Given the description of an element on the screen output the (x, y) to click on. 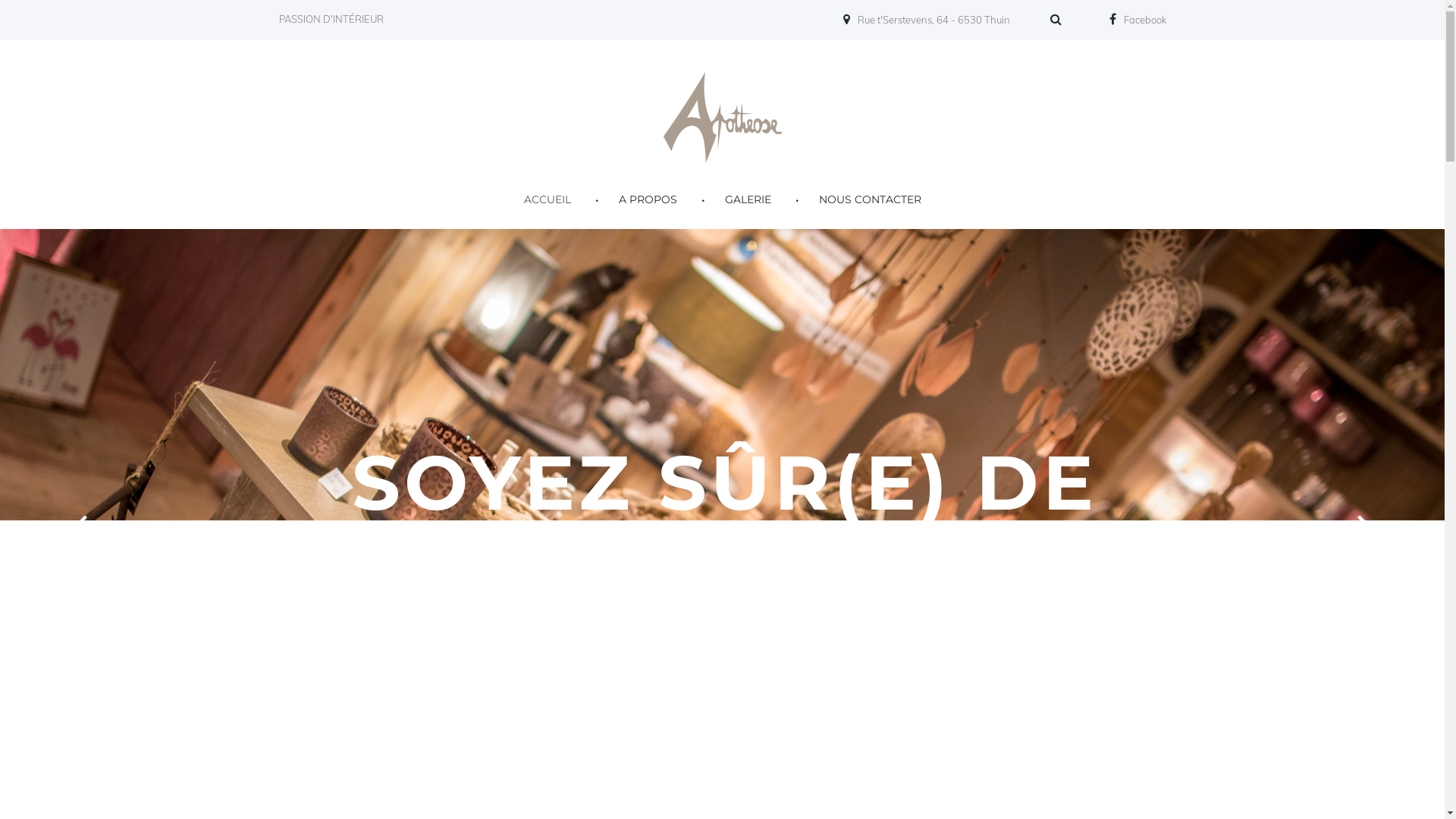
A PROPOS Element type: text (647, 199)
GALERIE Element type: text (747, 199)
Facebook Element type: text (1136, 19)
NOUS CONTACTER Element type: text (870, 199)
ACCUEIL Element type: text (546, 199)
Rue t'Serstevens, 64 - 6530 Thuin Element type: text (926, 19)
Rechercher Element type: text (1058, 20)
